Given the description of an element on the screen output the (x, y) to click on. 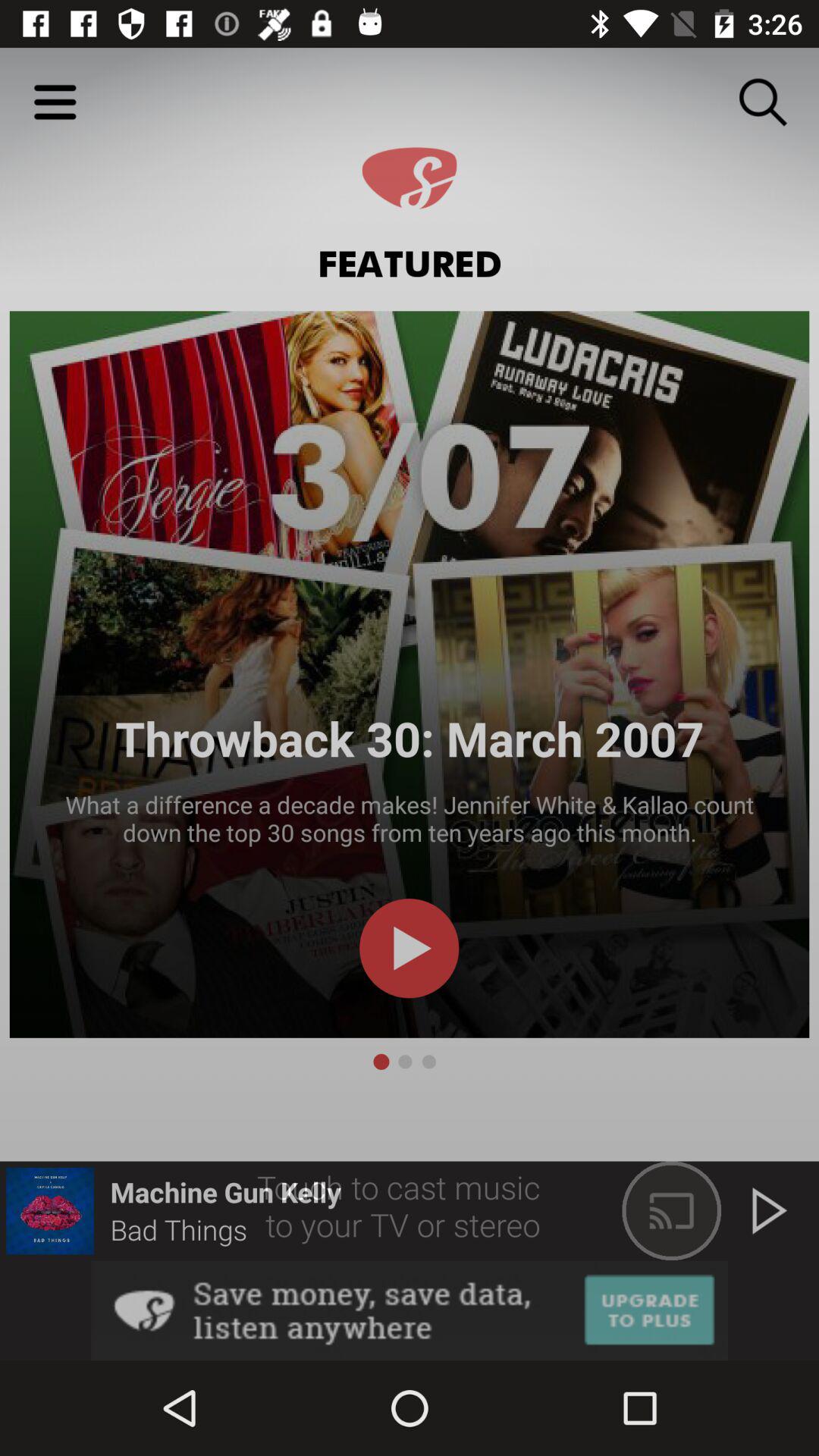
know about the advertisement (409, 1310)
